Given the description of an element on the screen output the (x, y) to click on. 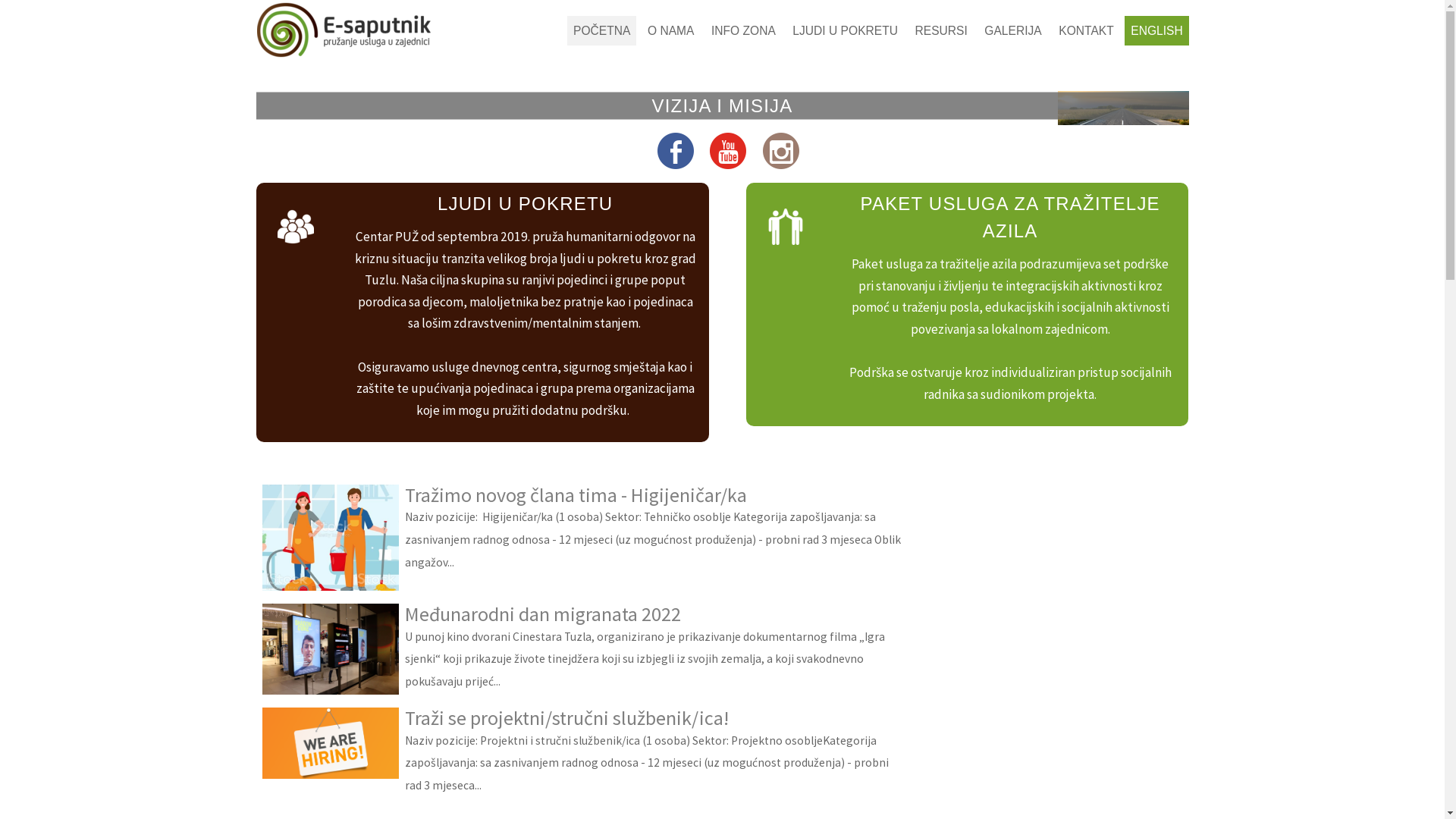
O NAMA Element type: text (670, 30)
ENGLISH Element type: text (1156, 30)
INFO ZONA Element type: text (743, 30)
LJUDI U POKRETU Element type: text (845, 30)
GALERIJA Element type: text (1013, 30)
KONTAKT Element type: text (1085, 30)
RESURSI Element type: text (941, 30)
